Given the description of an element on the screen output the (x, y) to click on. 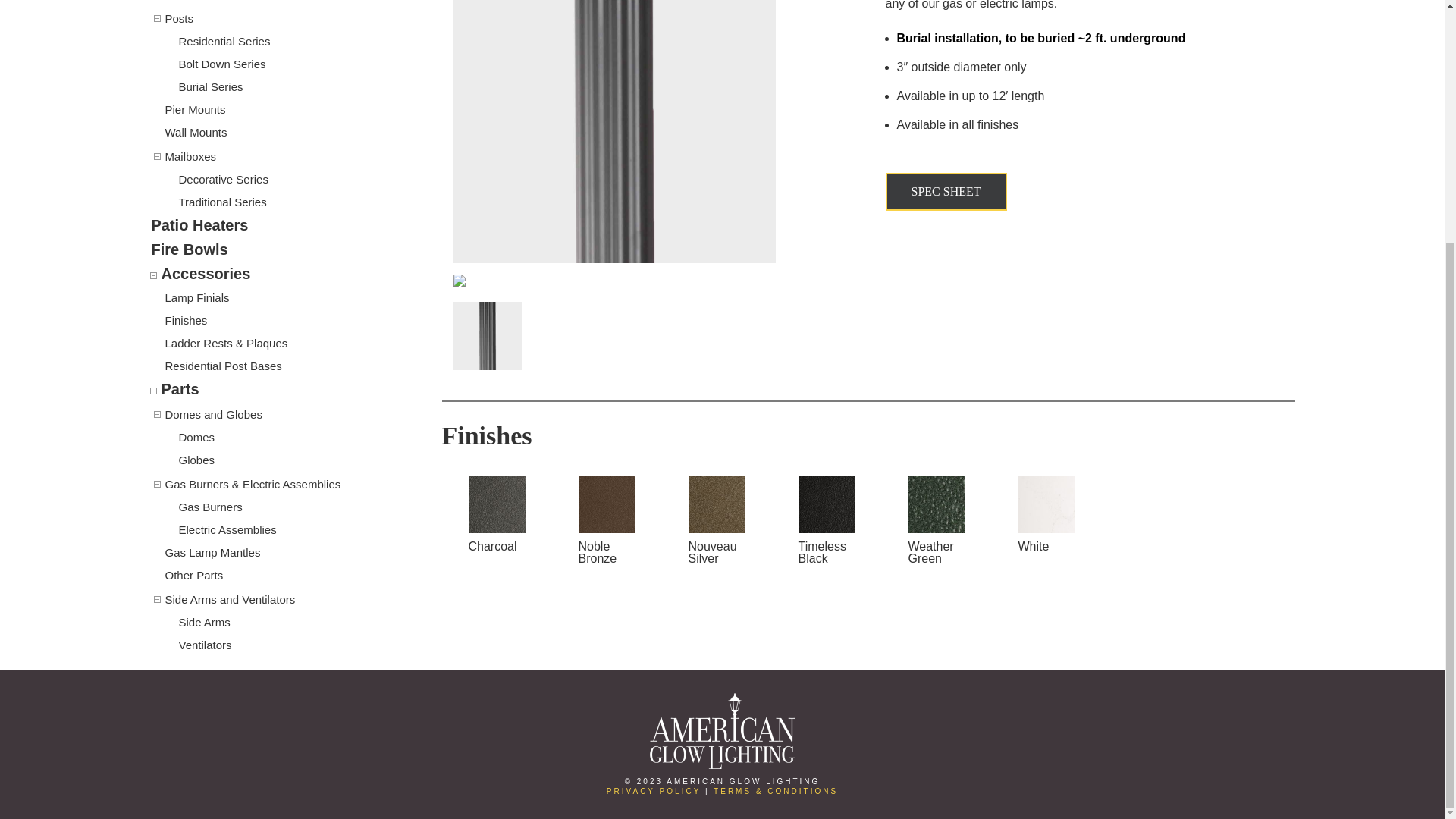
Fire Bowls:  (189, 248)
Accessories:  (205, 273)
Patio Heaters:  (199, 225)
Lamp Finials:  (197, 297)
